Given the description of an element on the screen output the (x, y) to click on. 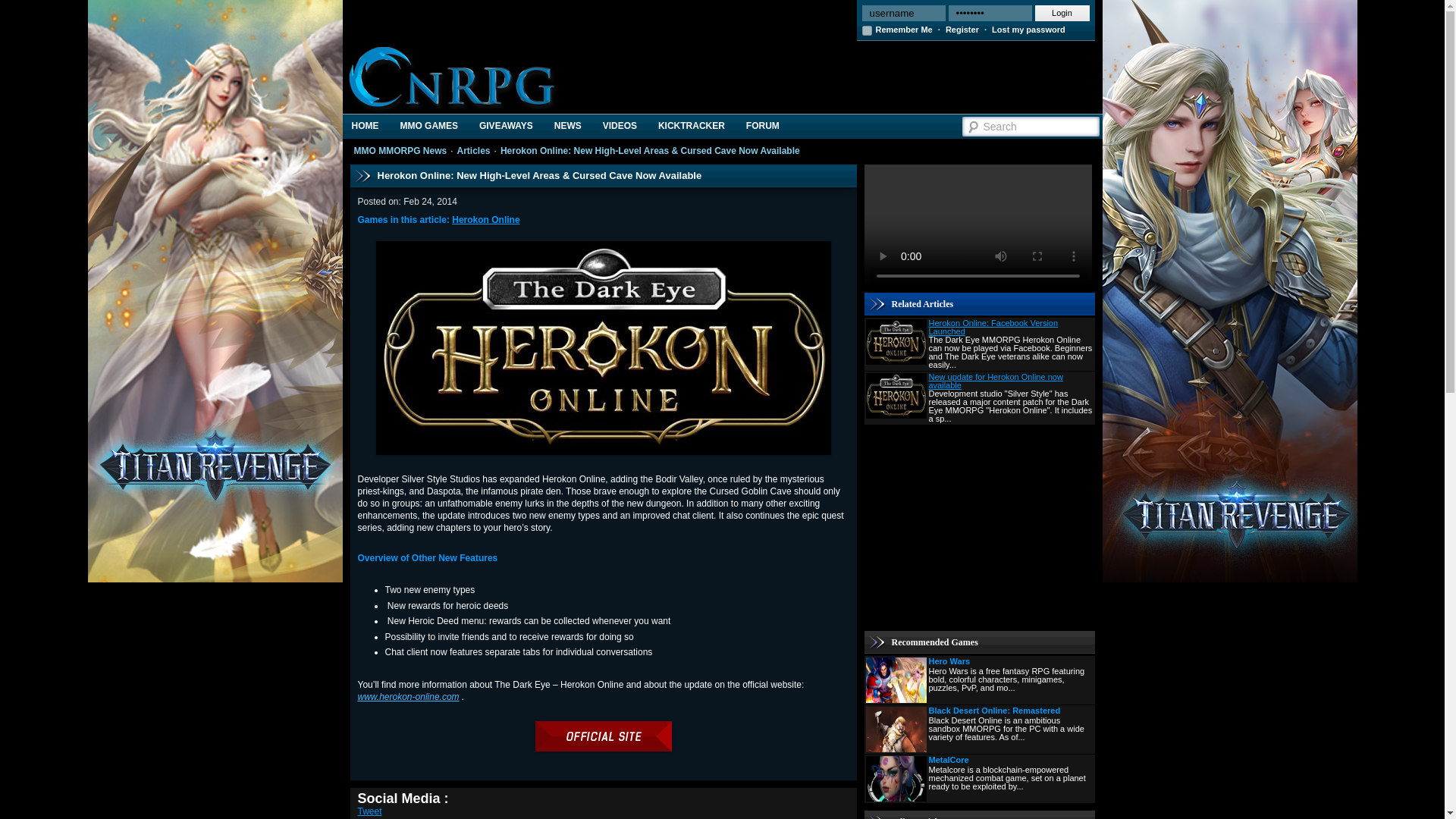
Visit the Official Site for Herokon Online (603, 747)
OnRPG Homepage (365, 125)
NEWS (567, 125)
www.herokon-online.com (409, 696)
Articles (473, 150)
Go to the Articles category archives. (473, 150)
HOME (365, 125)
MMO MMORPG News (399, 150)
VIDEOS (620, 125)
Go to the MMO MMORPG News category archives. (399, 150)
KICKTRACKER (691, 125)
Tweet (369, 810)
GIVEAWAYS (505, 125)
Kickstarter Games, News, and Updates (691, 125)
MMO GAMES (428, 125)
